Given the description of an element on the screen output the (x, y) to click on. 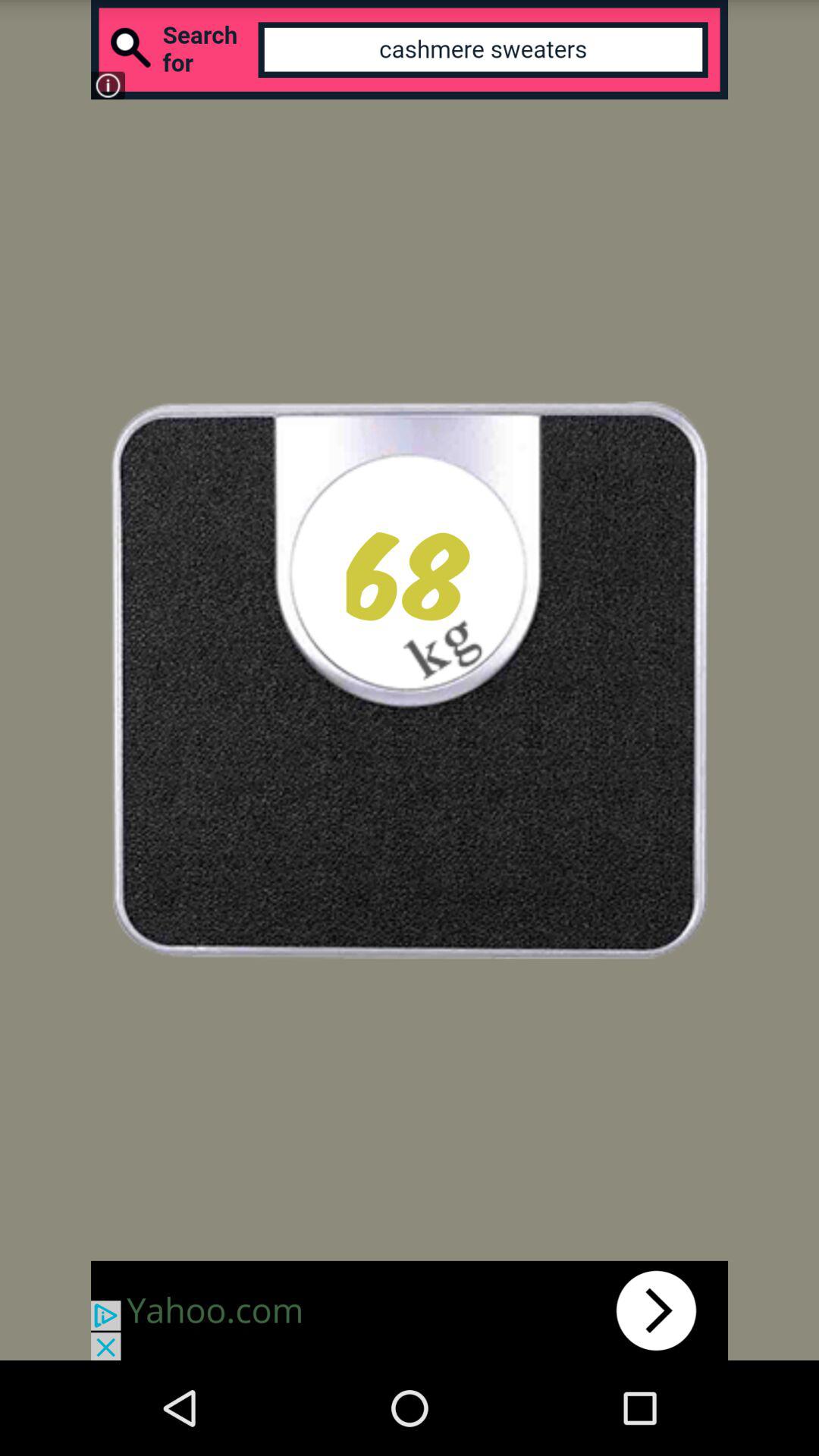
go to next (409, 1310)
